Given the description of an element on the screen output the (x, y) to click on. 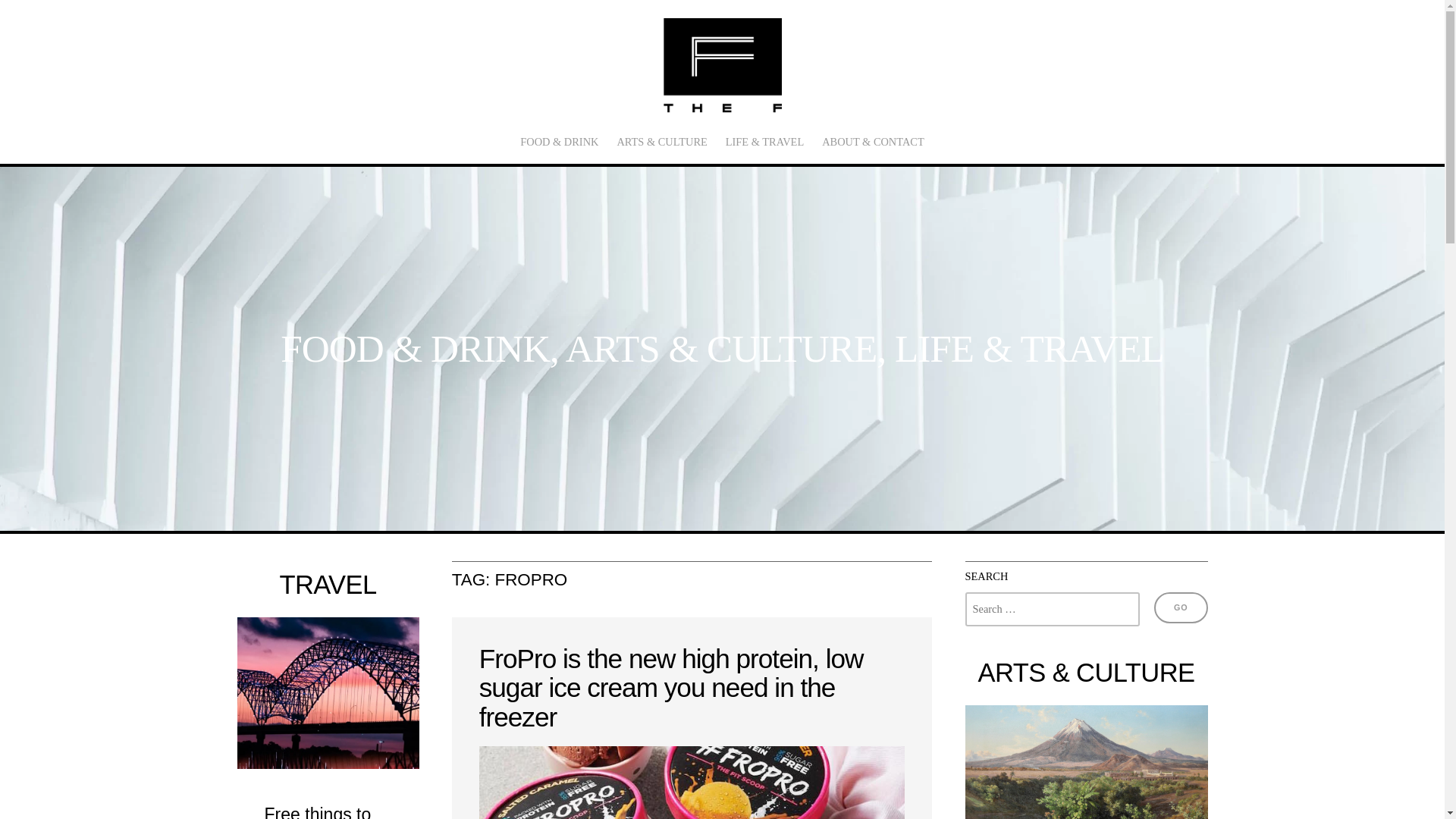
Go (1180, 607)
Go (1180, 607)
Free things to do in Memphis USA (320, 811)
